Given the description of an element on the screen output the (x, y) to click on. 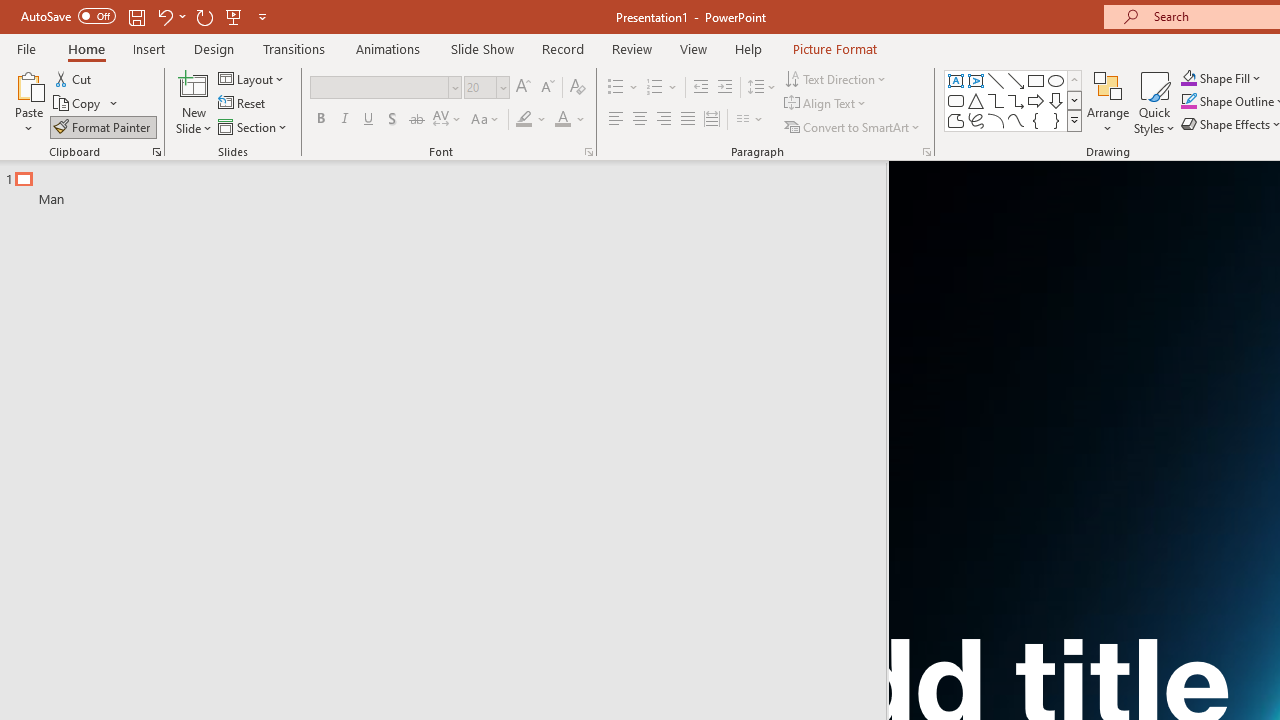
Outline (452, 184)
